Given the description of an element on the screen output the (x, y) to click on. 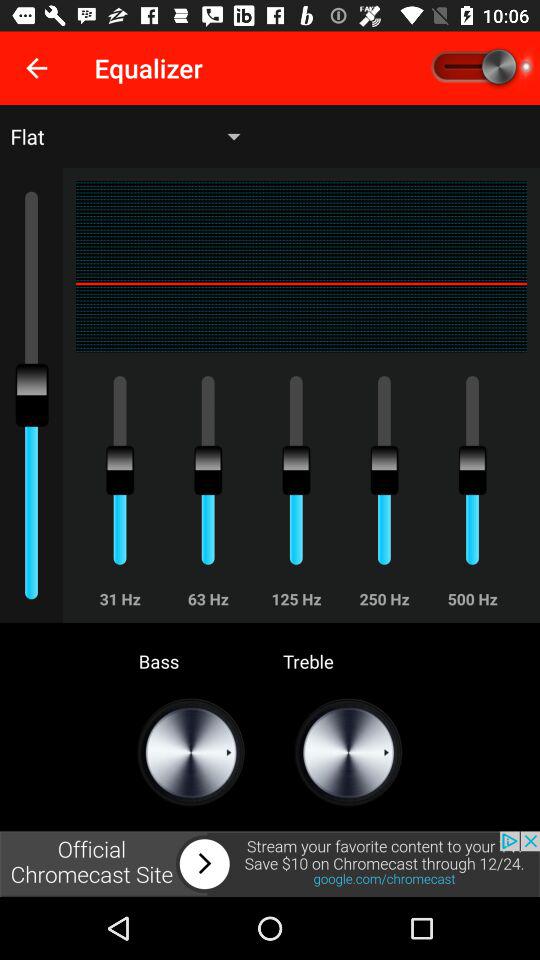
go to the advertising website (270, 864)
